Given the description of an element on the screen output the (x, y) to click on. 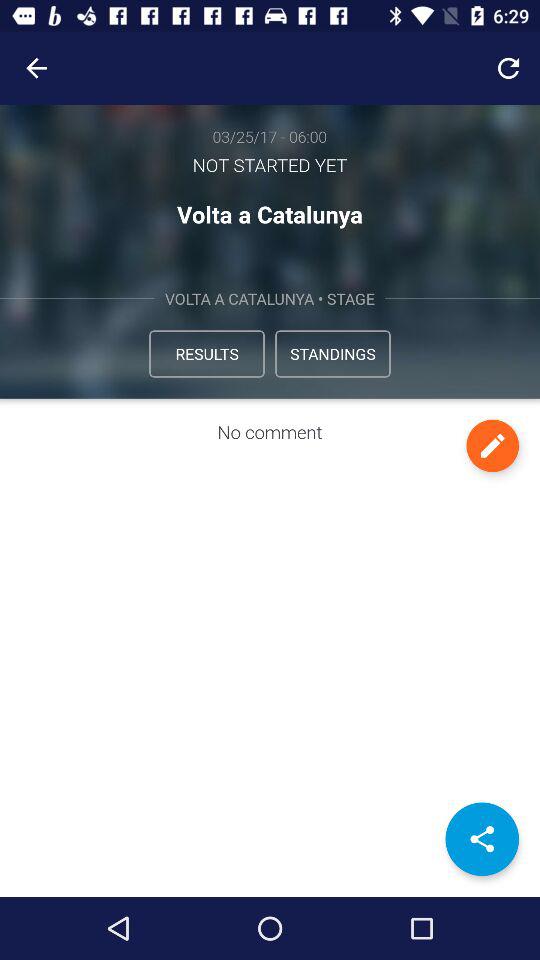
edit comment (492, 445)
